Given the description of an element on the screen output the (x, y) to click on. 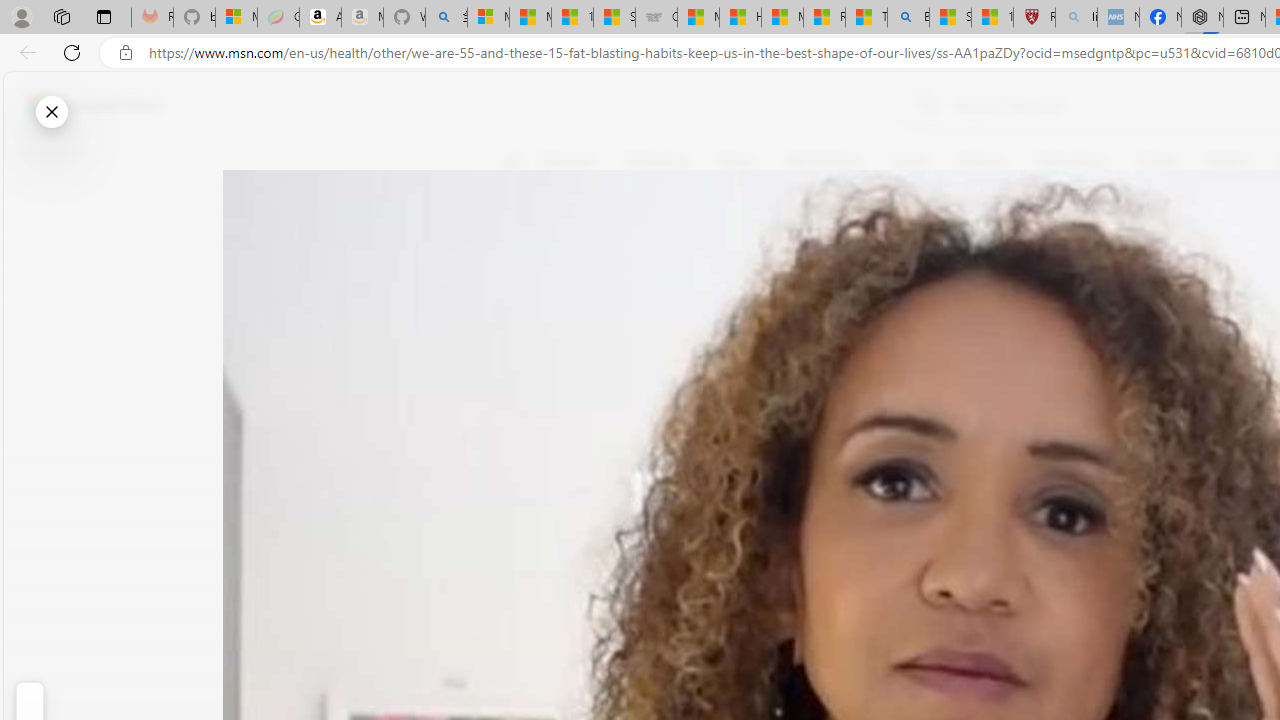
Skip to content (86, 105)
Share this story (525, 412)
Class: at-item (525, 468)
Science (980, 162)
12 Popular Science Lies that Must be Corrected (991, 17)
6 Like (525, 244)
Microsoft-Report a Concern to Bing (236, 17)
Follow (909, 258)
Politics (1227, 162)
